Given the description of an element on the screen output the (x, y) to click on. 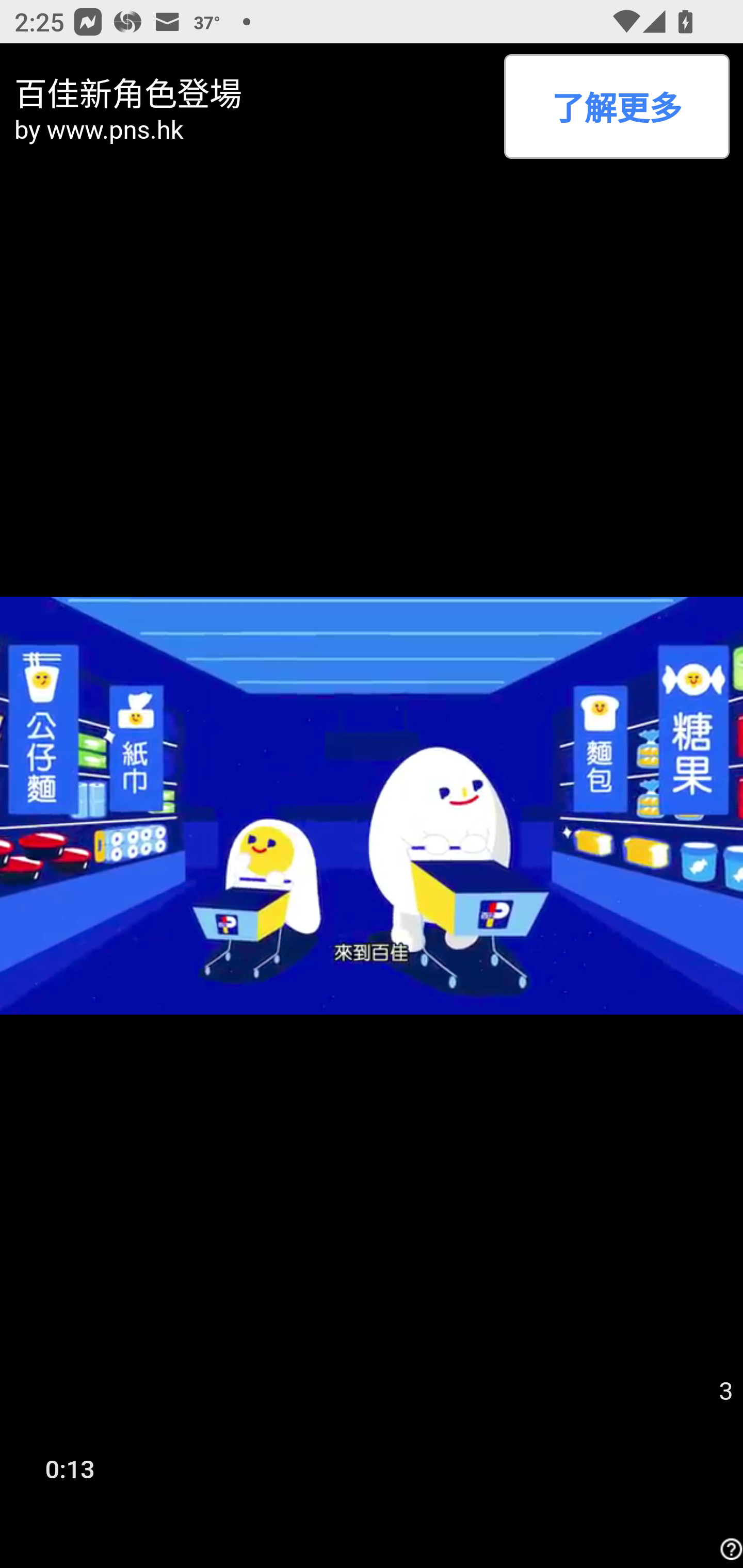
了解更多 (616, 106)
百佳新角色登場 (252, 90)
by www.pns.hk (252, 128)
Skip Ad Countdown (725, 1391)
0:13 (70, 1468)
help_outline_white_24dp_with_3px_trbl_padding (728, 1548)
